Given the description of an element on the screen output the (x, y) to click on. 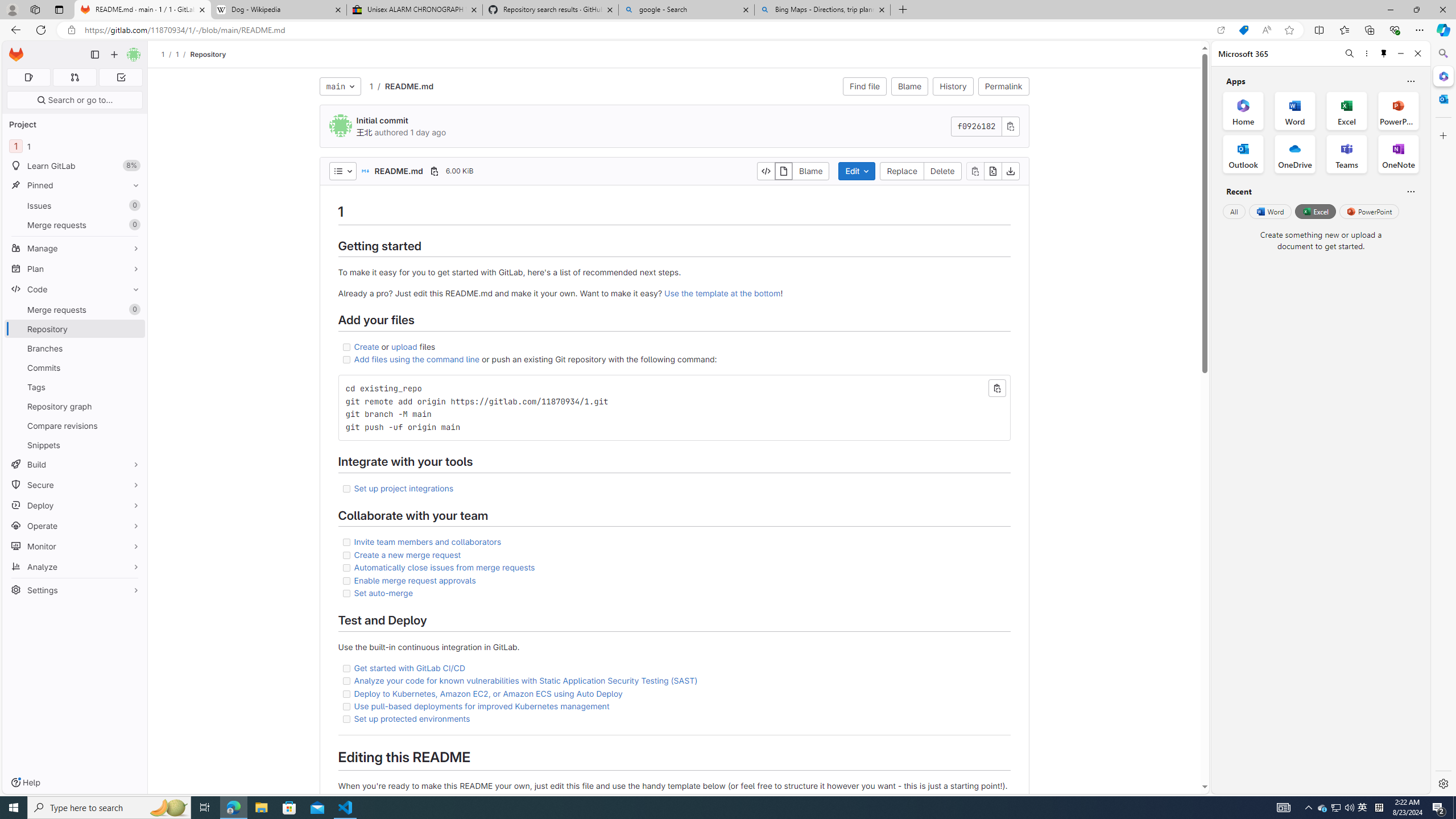
Get started with GitLab CI/CD (673, 667)
Plan (74, 268)
makeareadme.com (413, 796)
All (1233, 210)
Repository graph (74, 406)
Automatically close issues from merge requests (673, 567)
Set up project integrations (673, 487)
Display rendered file (783, 171)
Branches (74, 348)
1 (370, 85)
Monitor (74, 546)
